Given the description of an element on the screen output the (x, y) to click on. 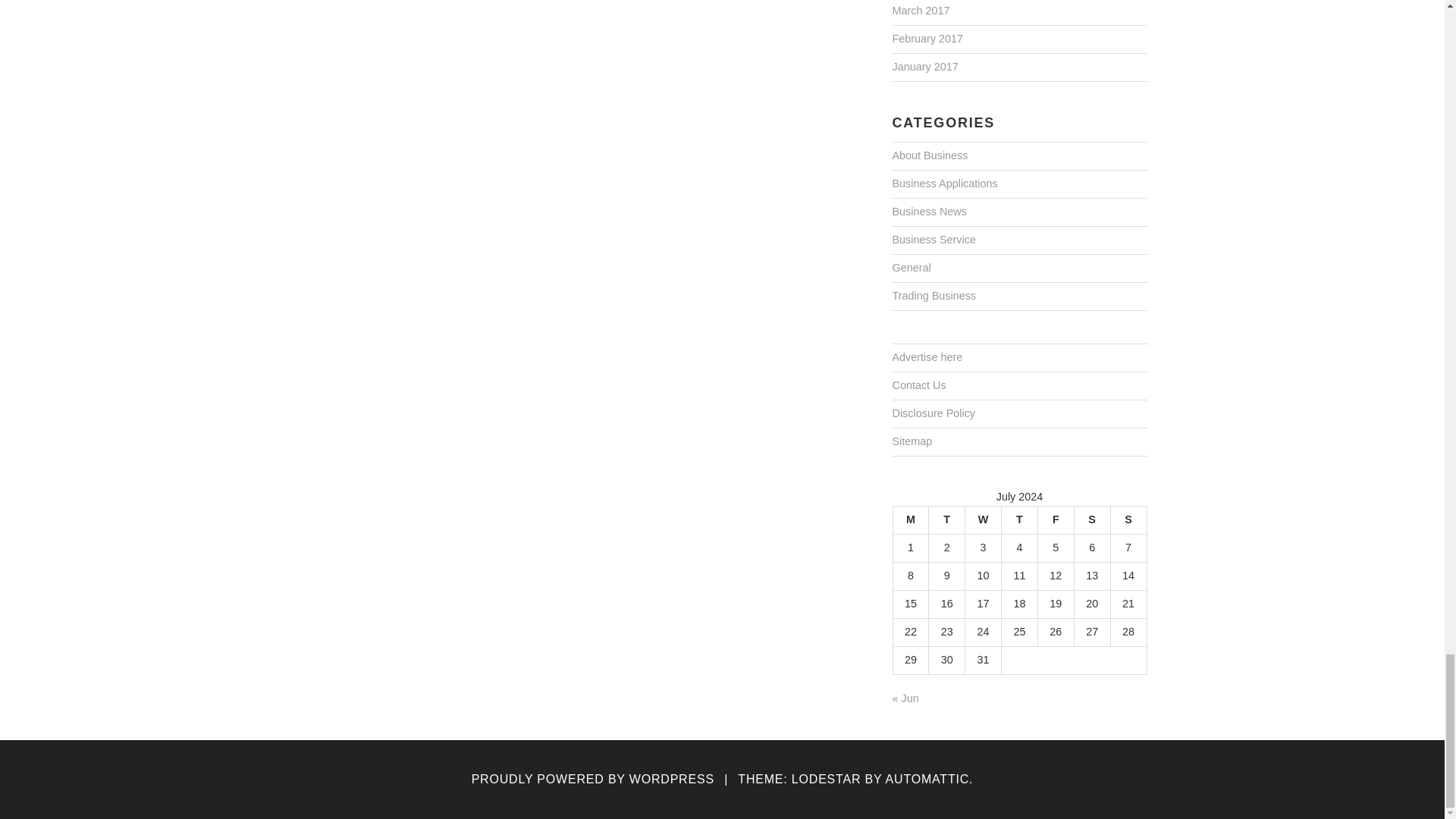
Wednesday (983, 519)
Friday (1055, 519)
Saturday (1091, 519)
Sunday (1128, 519)
Thursday (1019, 519)
Monday (910, 519)
Tuesday (946, 519)
